Given the description of an element on the screen output the (x, y) to click on. 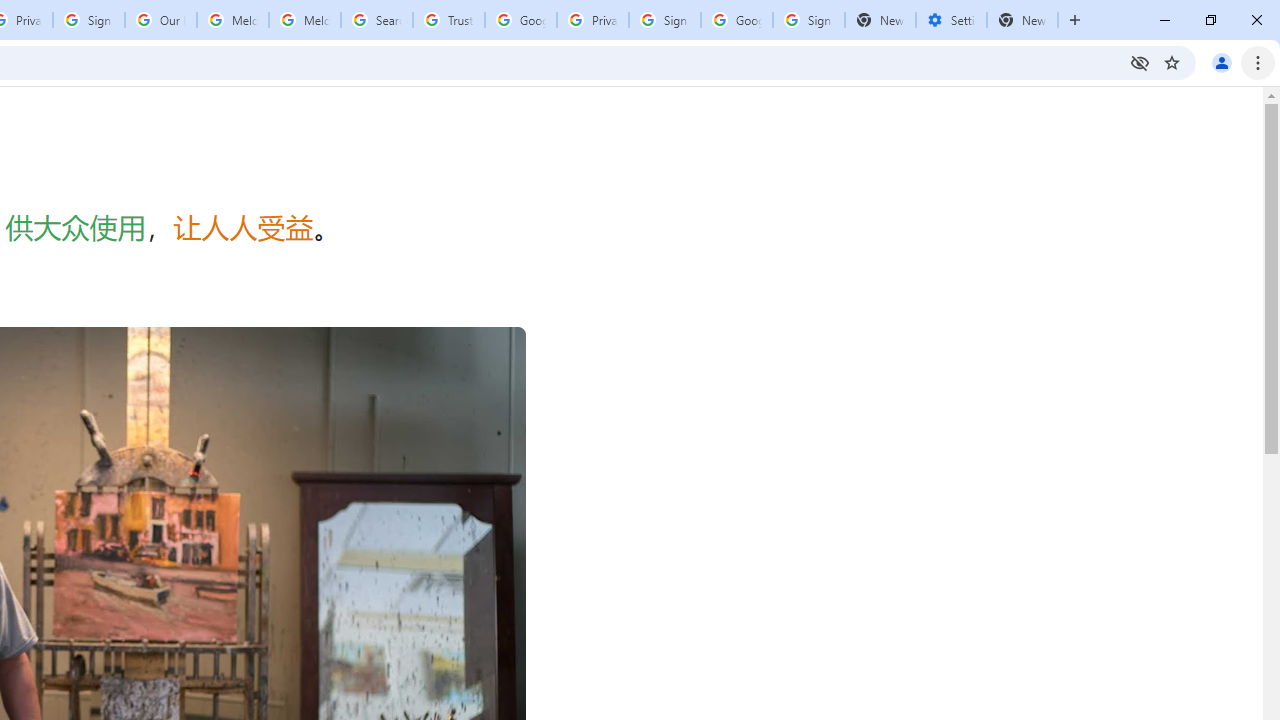
Settings - Addresses and more (951, 20)
Sign in - Google Accounts (808, 20)
Search our Doodle Library Collection - Google Doodles (376, 20)
Google Ads - Sign in (520, 20)
Google Cybersecurity Innovations - Google Safety Center (737, 20)
Trusted Information and Content - Google Safety Center (449, 20)
